Given the description of an element on the screen output the (x, y) to click on. 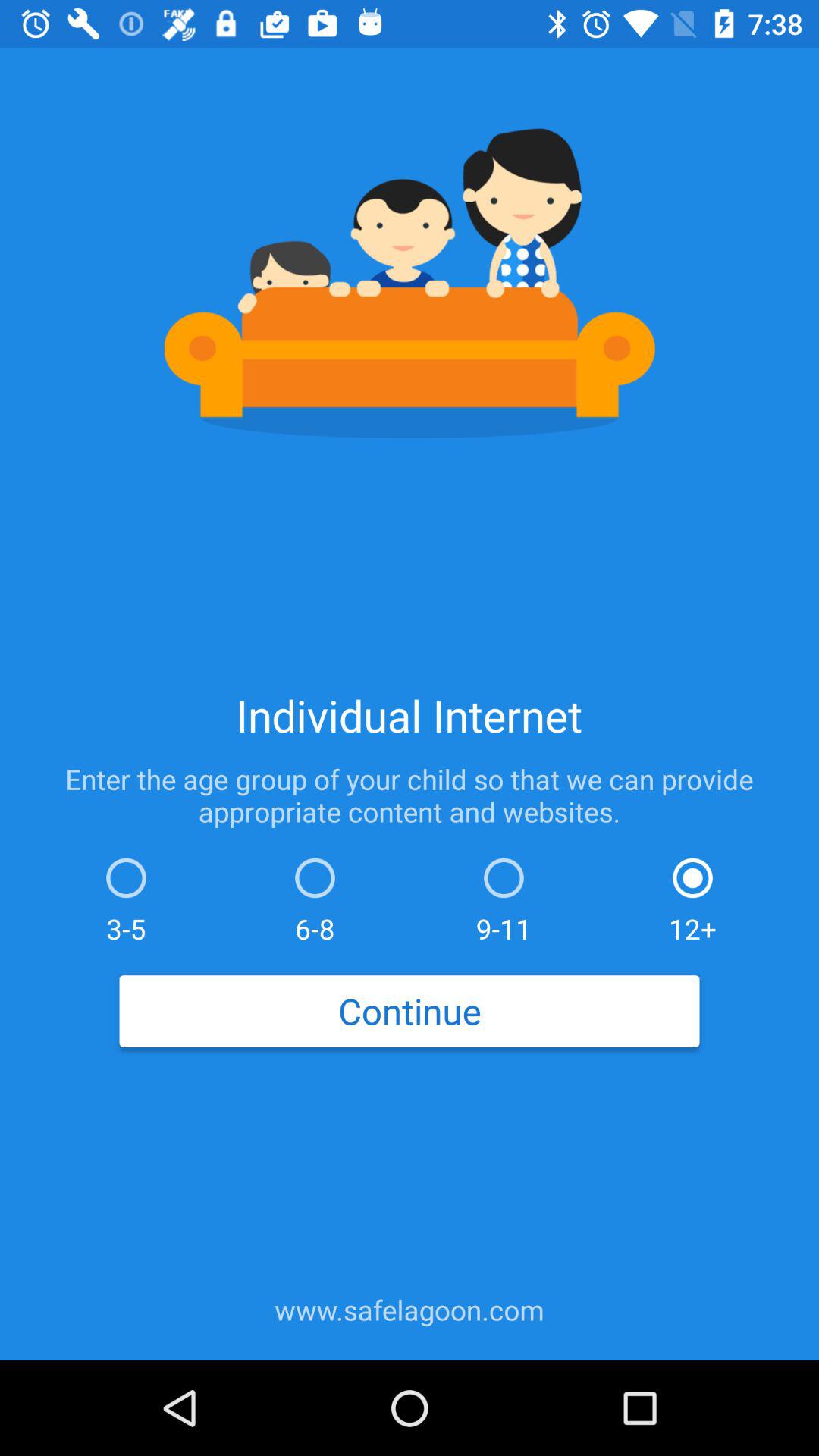
turn on the item to the right of 6-8 (503, 896)
